Given the description of an element on the screen output the (x, y) to click on. 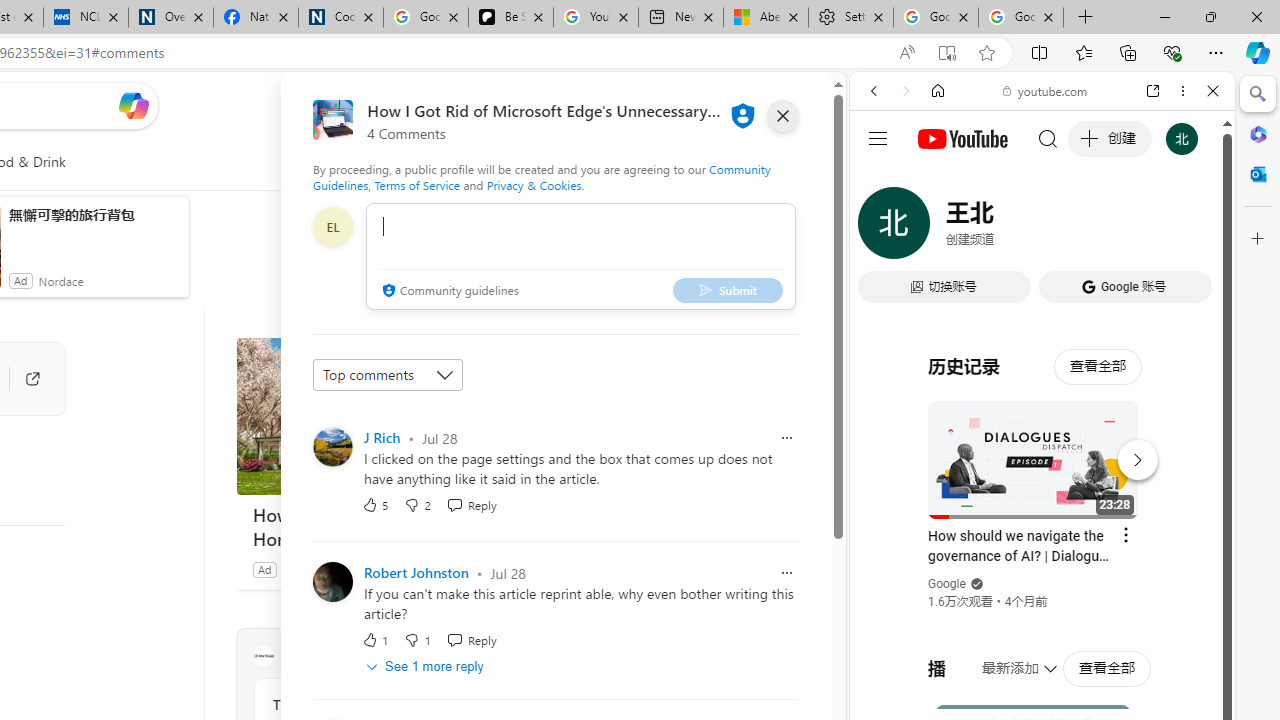
Open settings (786, 105)
Report comment (786, 572)
HowToGeek (263, 655)
Search Filter, IMAGES (939, 228)
Close Customize pane (1258, 239)
Terms of Service (416, 184)
Global web icon (888, 288)
Search the web (1051, 137)
